Given the description of an element on the screen output the (x, y) to click on. 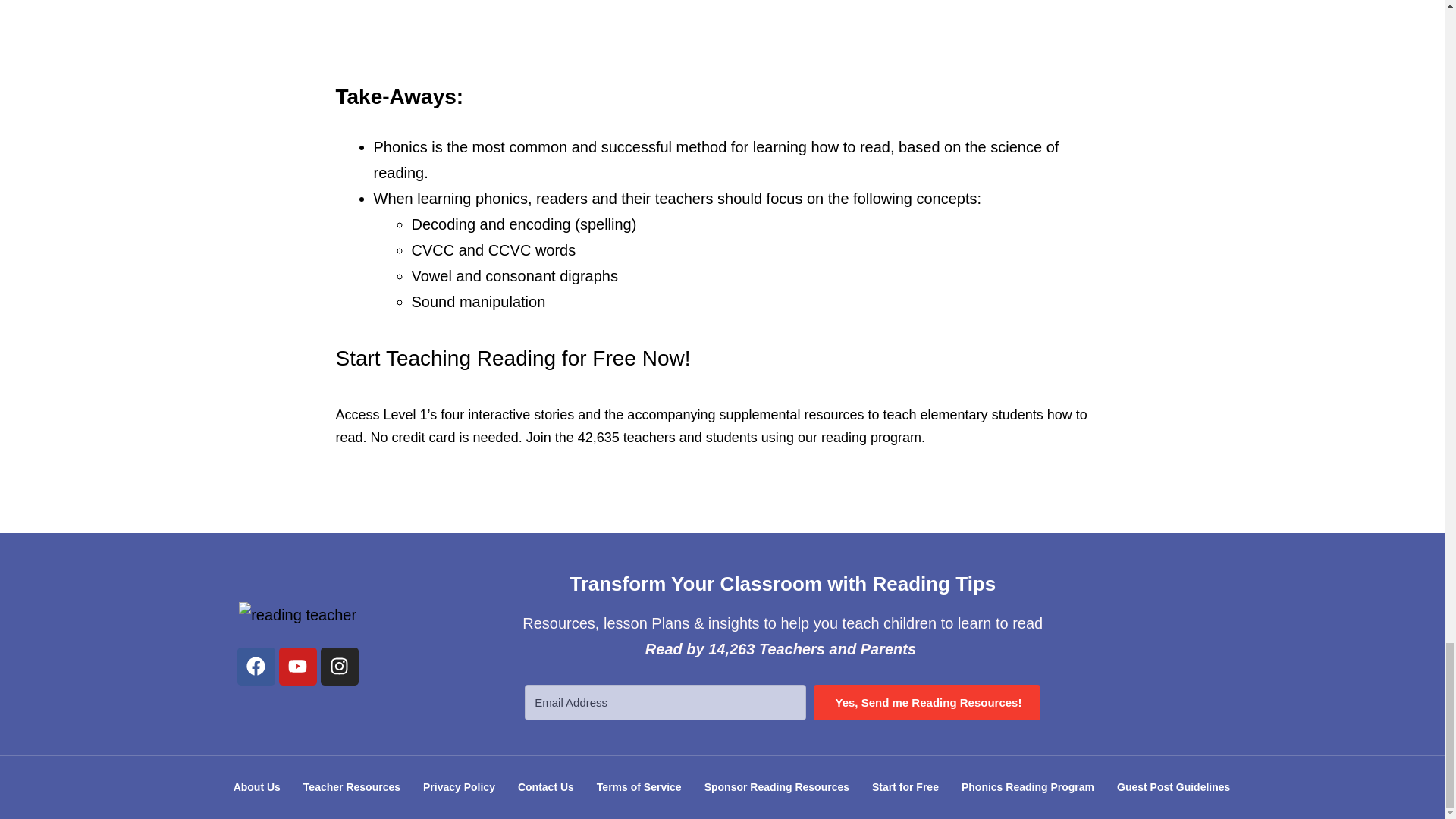
Start for Free (905, 786)
Picture 3 (722, 26)
Teacher Resources (352, 786)
Contact Us (545, 786)
Privacy Policy (459, 786)
Terms of Service (639, 786)
Guest Post Guidelines (1173, 786)
 Yes, Send me Reading Resources! (927, 702)
Phonics Reading Program (1027, 786)
Sponsor Reading Resources (776, 786)
About Us (257, 786)
